Given the description of an element on the screen output the (x, y) to click on. 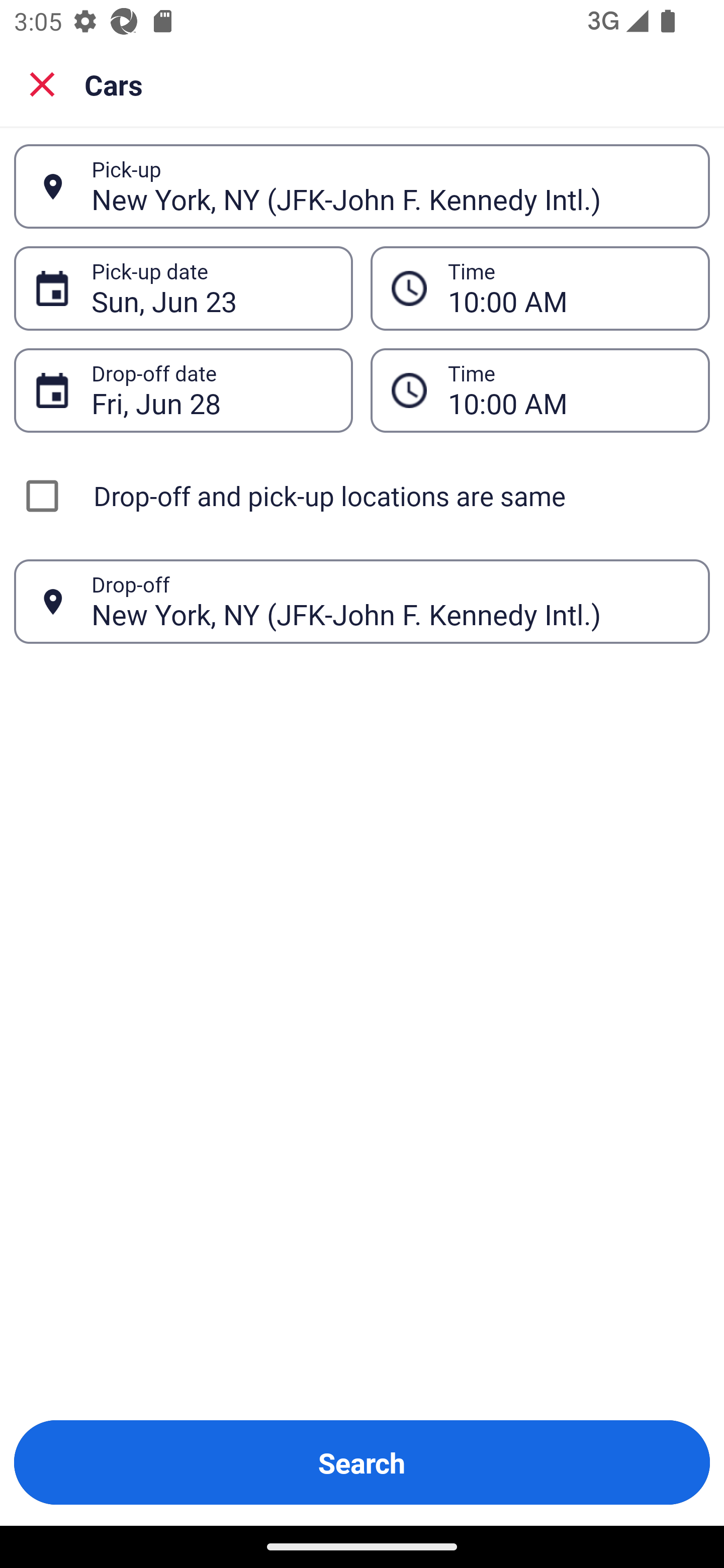
Close search screen (41, 83)
New York, NY (JFK-John F. Kennedy Intl.) Pick-up (361, 186)
New York, NY (JFK-John F. Kennedy Intl.) (389, 186)
Sun, Jun 23 Pick-up date (183, 288)
10:00 AM (540, 288)
Sun, Jun 23 (211, 288)
10:00 AM (568, 288)
Fri, Jun 28 Drop-off date (183, 390)
10:00 AM (540, 390)
Fri, Jun 28 (211, 390)
10:00 AM (568, 390)
Drop-off and pick-up locations are same (361, 495)
New York, NY (JFK-John F. Kennedy Intl.) Drop-off (361, 601)
New York, NY (JFK-John F. Kennedy Intl.) (389, 601)
Search Button Search (361, 1462)
